Given the description of an element on the screen output the (x, y) to click on. 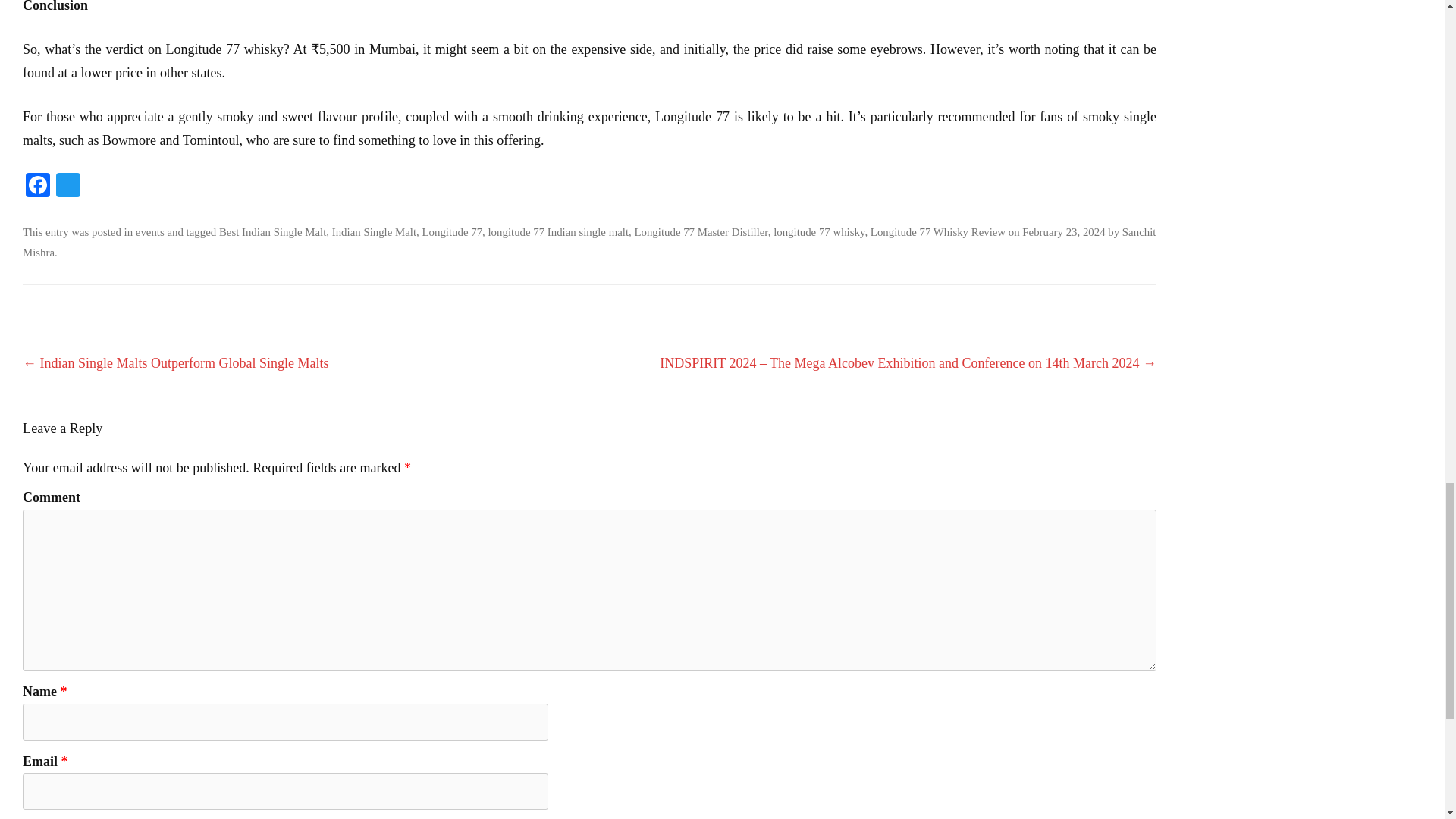
4:56 pm (1063, 232)
Best Indian Single Malt (272, 232)
Facebook (37, 186)
View all posts by Sanchit Mishra (589, 242)
Indian Single Malt (373, 232)
Twitter (67, 186)
Facebook (37, 186)
events (149, 232)
Twitter (67, 186)
